Given the description of an element on the screen output the (x, y) to click on. 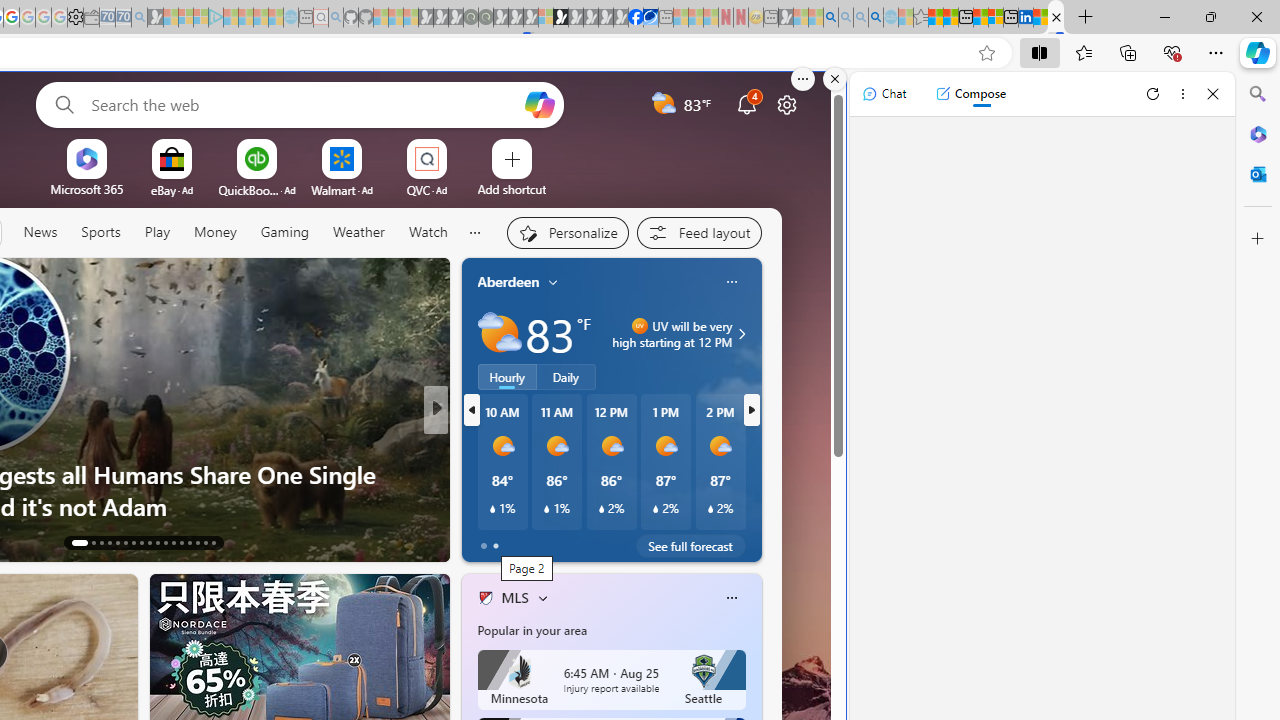
CNBC (477, 442)
View comments 18 Comment (582, 541)
CNN (477, 442)
github - Search - Sleeping (336, 17)
The Independent (477, 442)
23 Like (487, 541)
AutomationID: tab-22 (157, 542)
